Given the description of an element on the screen output the (x, y) to click on. 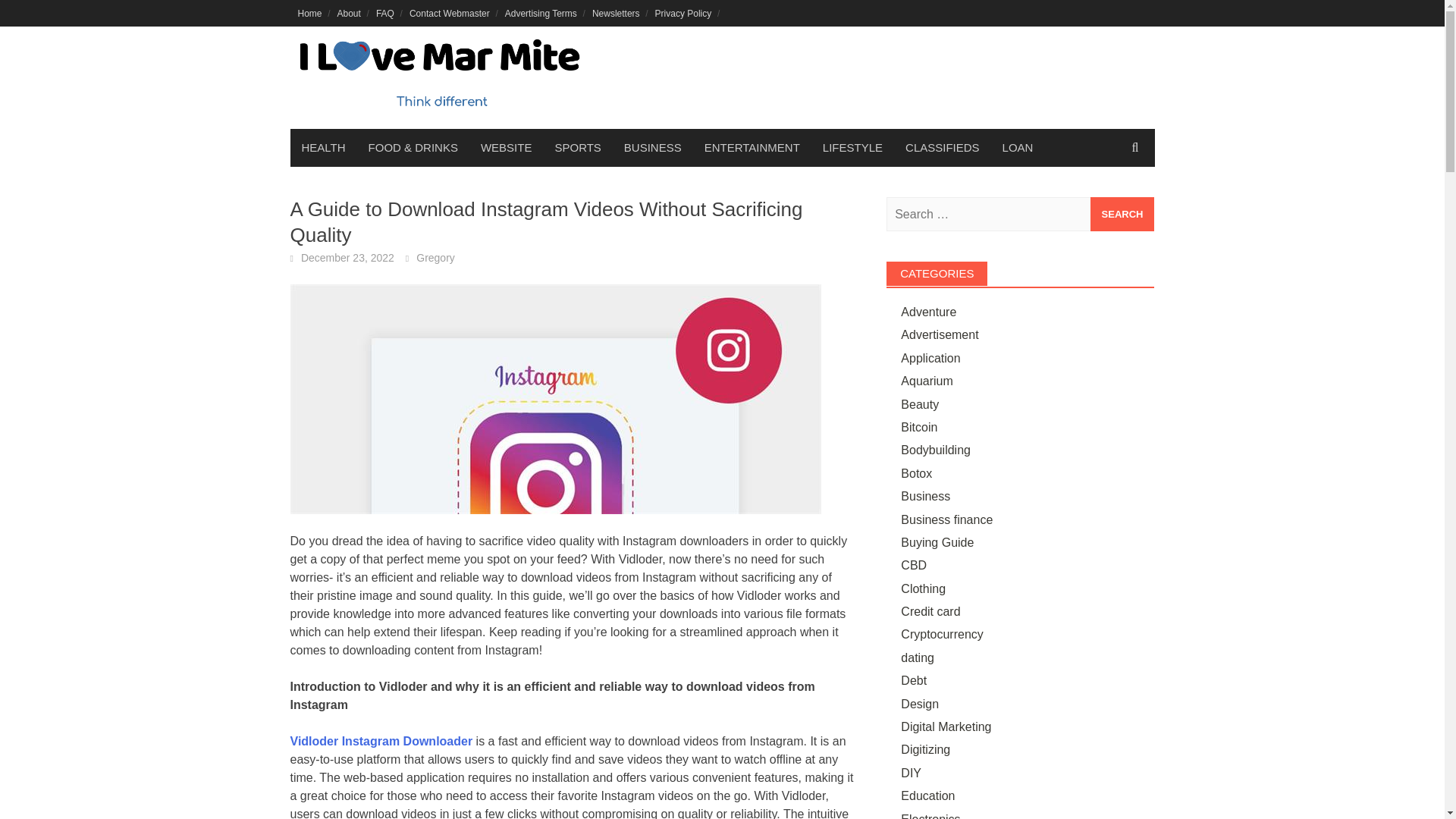
Search (1122, 213)
Bitcoin (919, 427)
Privacy Policy (683, 13)
LOAN (1018, 147)
LIFESTYLE (851, 147)
Search (1122, 213)
Newsletters (616, 13)
BUSINESS (652, 147)
Bodybuilding (936, 449)
SPORTS (577, 147)
